Given the description of an element on the screen output the (x, y) to click on. 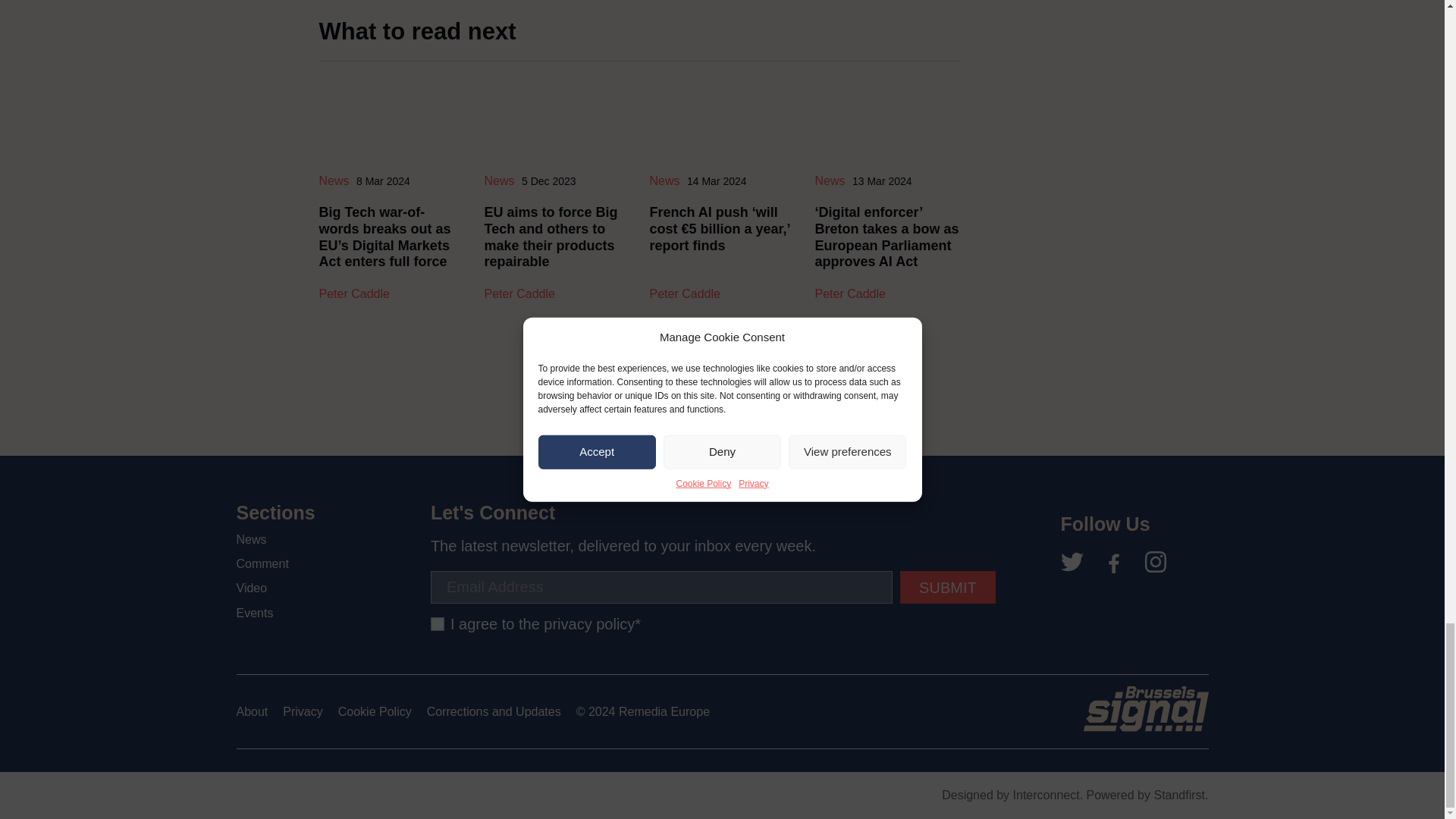
I agree to the privacy policy (437, 623)
